Given the description of an element on the screen output the (x, y) to click on. 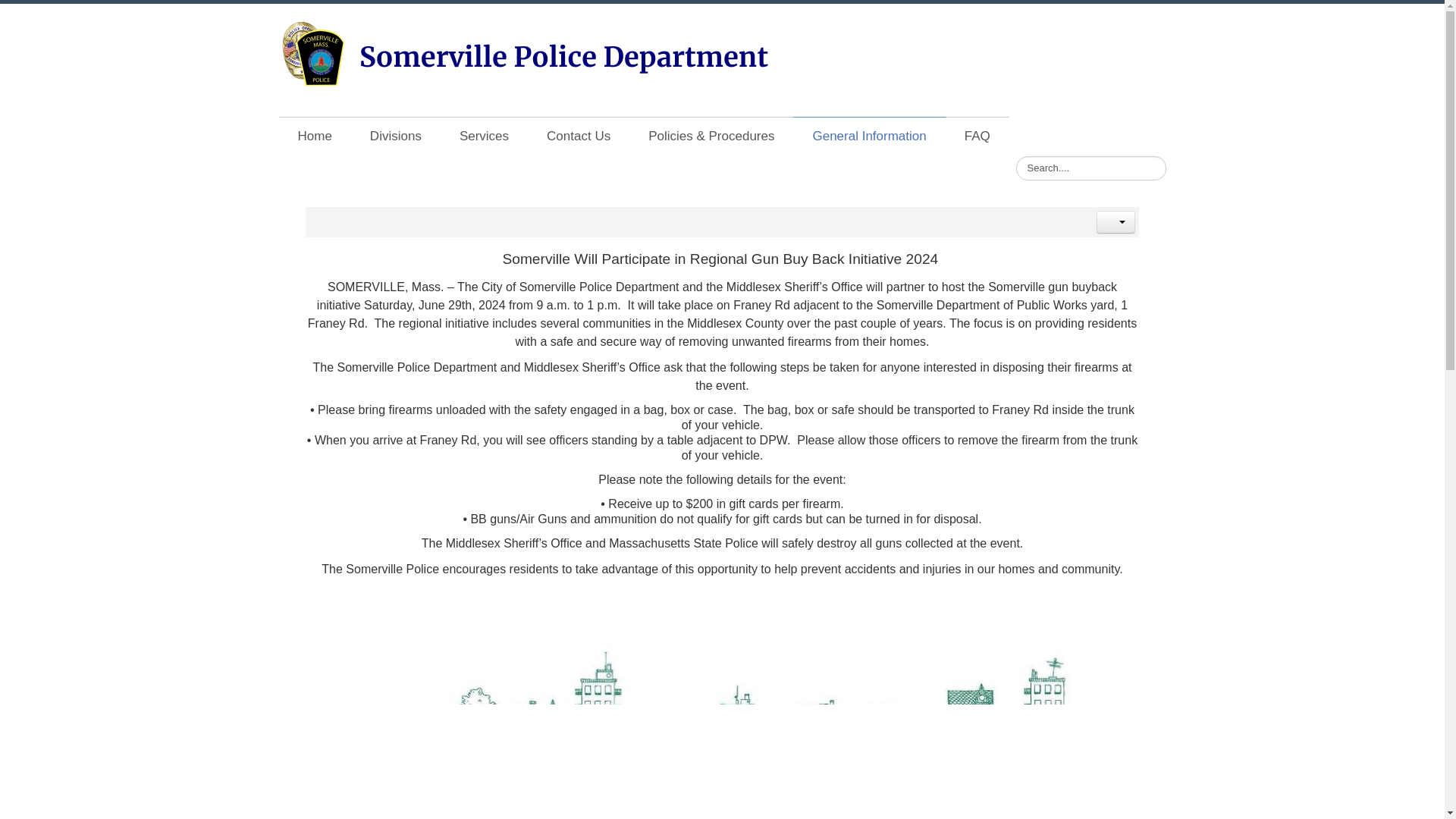
Instagram (1153, 38)
Twitter (1093, 38)
City of Somerville Massachusetts Police Department (524, 52)
Home (314, 136)
Search.... (1091, 168)
Search.... (1091, 168)
Divisions (395, 136)
Contact Us (577, 136)
Facebook (1063, 38)
General Information (868, 136)
